Given the description of an element on the screen output the (x, y) to click on. 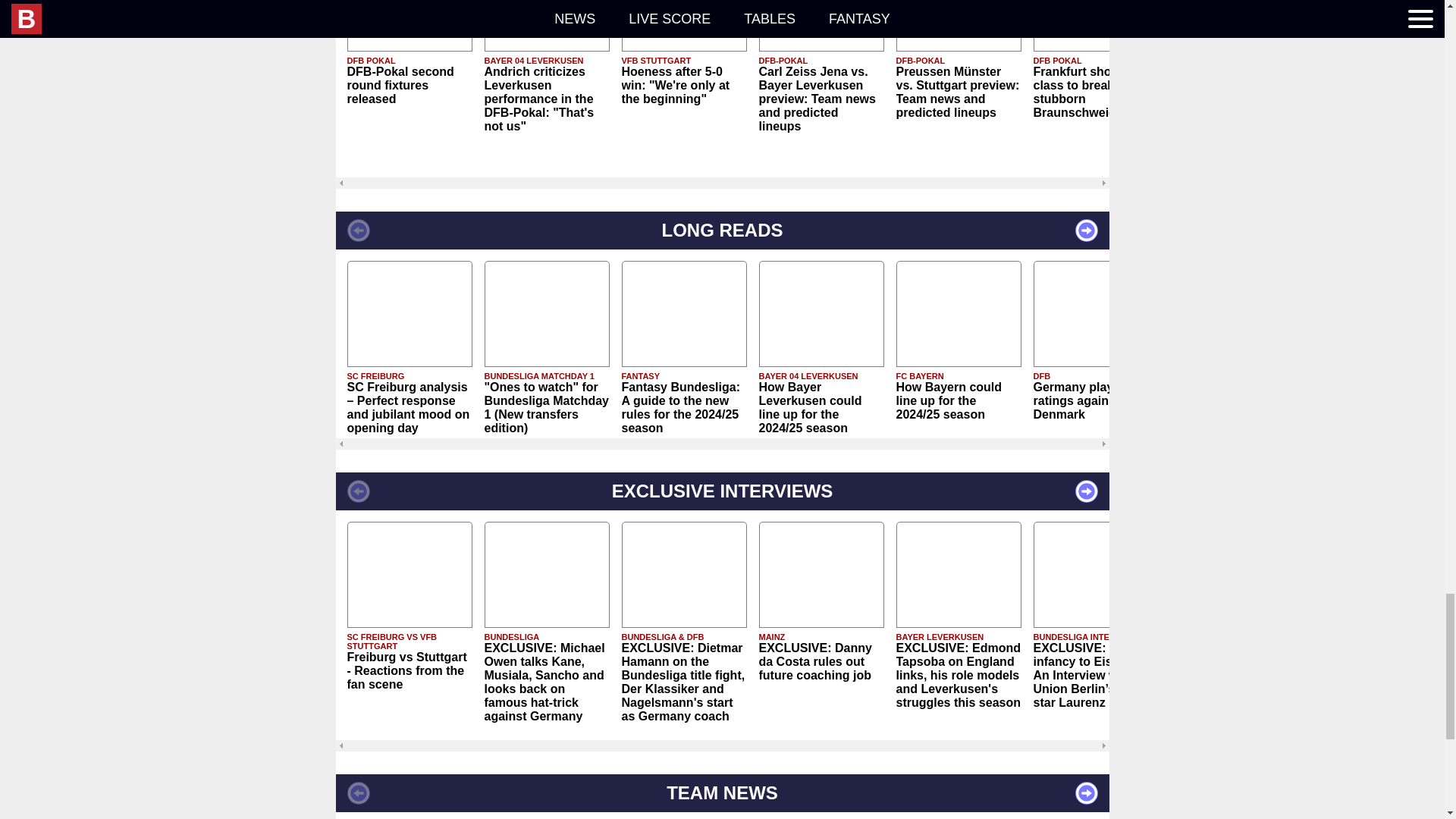
LONG READS (721, 230)
TEAM NEWS (721, 792)
EXCLUSIVE INTERVIEWS (721, 491)
